Given the description of an element on the screen output the (x, y) to click on. 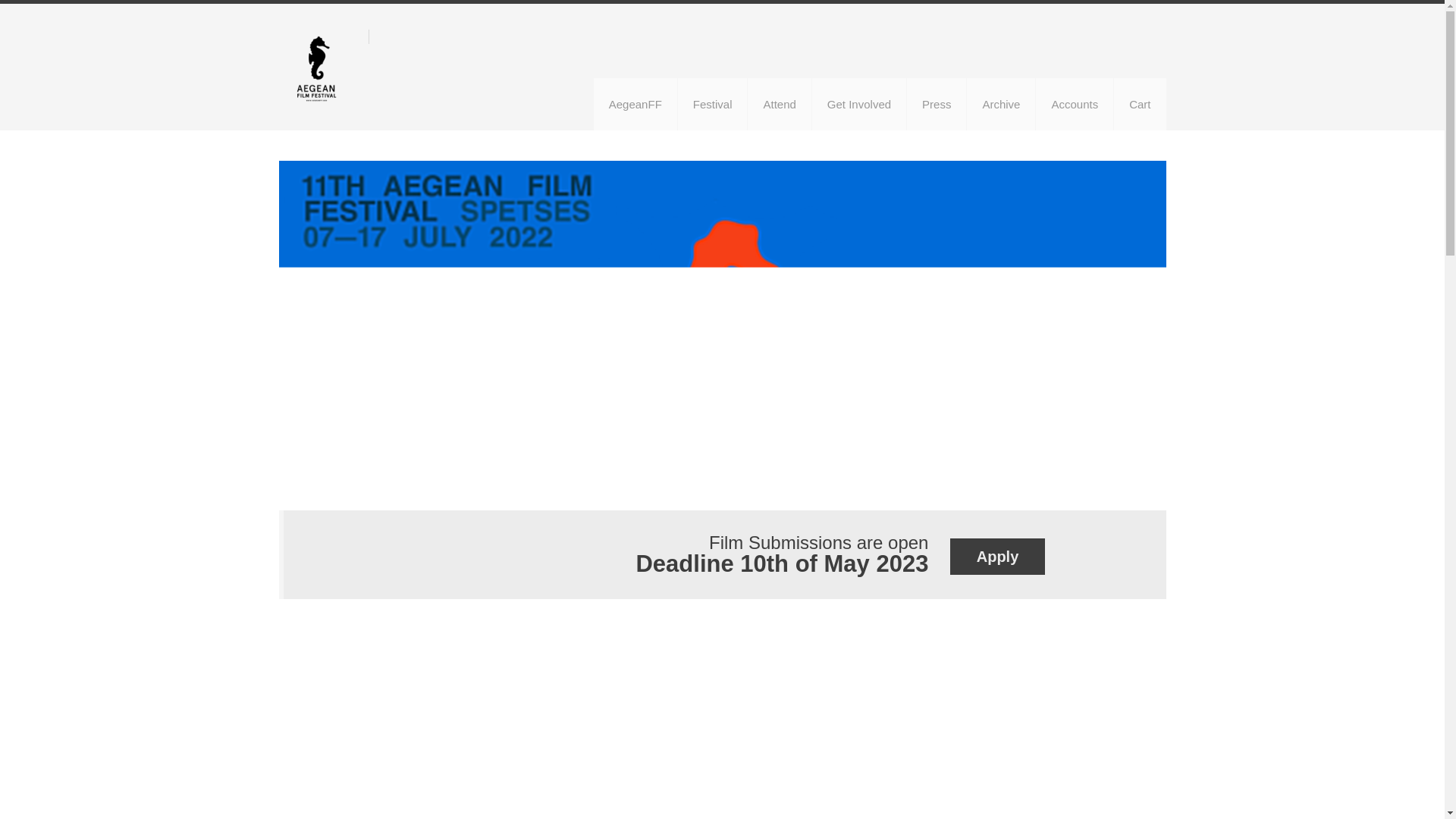
Press (936, 103)
AegeanFF (635, 103)
Get Involved (858, 103)
Attending the Festival, Tickets, Passes, Box Office, Booking (779, 103)
Attend (779, 103)
Festival (713, 103)
Archive (1000, 103)
